Given the description of an element on the screen output the (x, y) to click on. 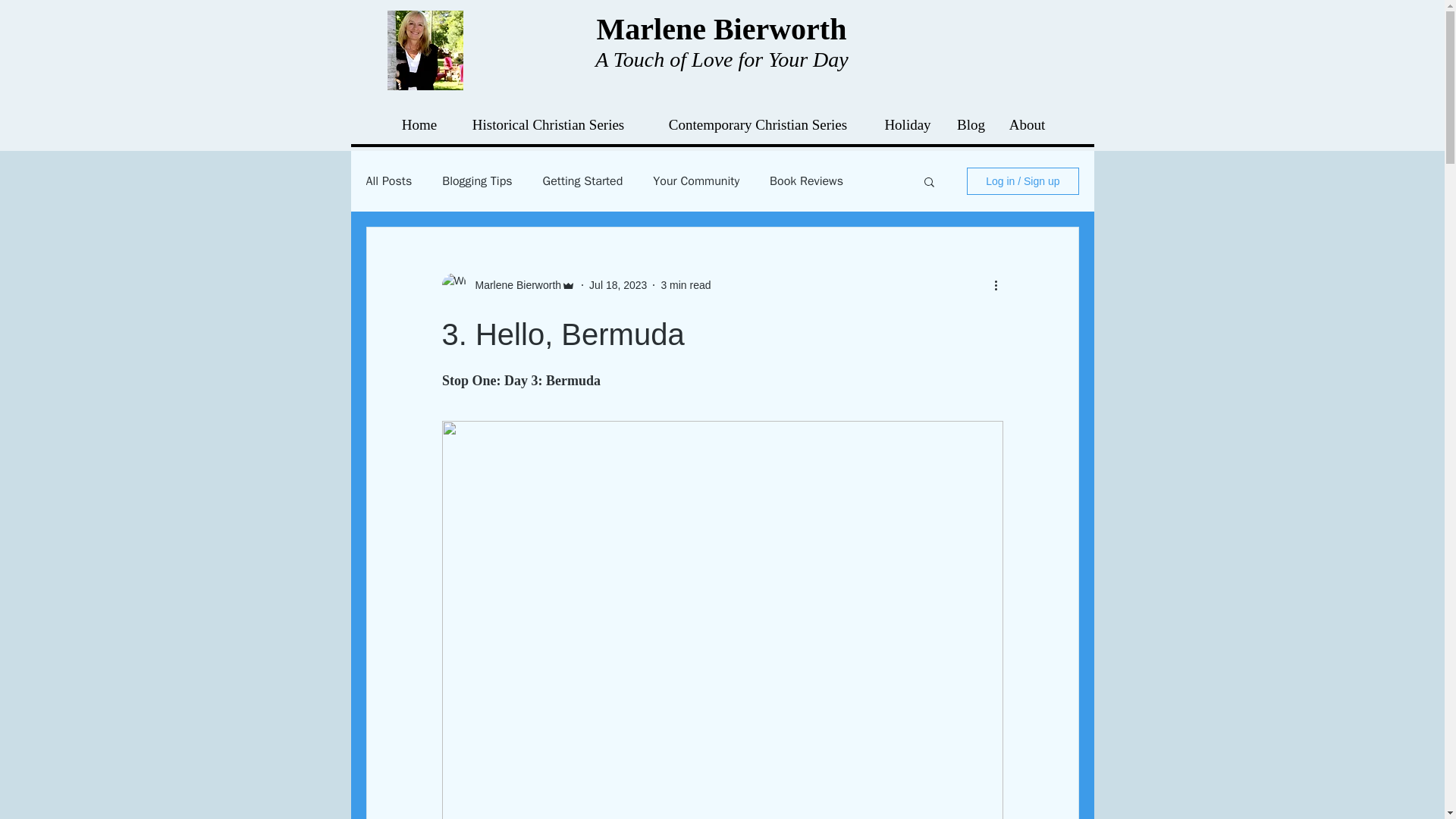
Blogging Tips (477, 180)
All Posts (388, 180)
Your Community (695, 180)
Marlene Bierworth (512, 285)
Getting Started (583, 180)
Blog (969, 125)
About (1026, 125)
3 min read (685, 285)
Home (418, 125)
Jul 18, 2023 (617, 285)
